Given the description of an element on the screen output the (x, y) to click on. 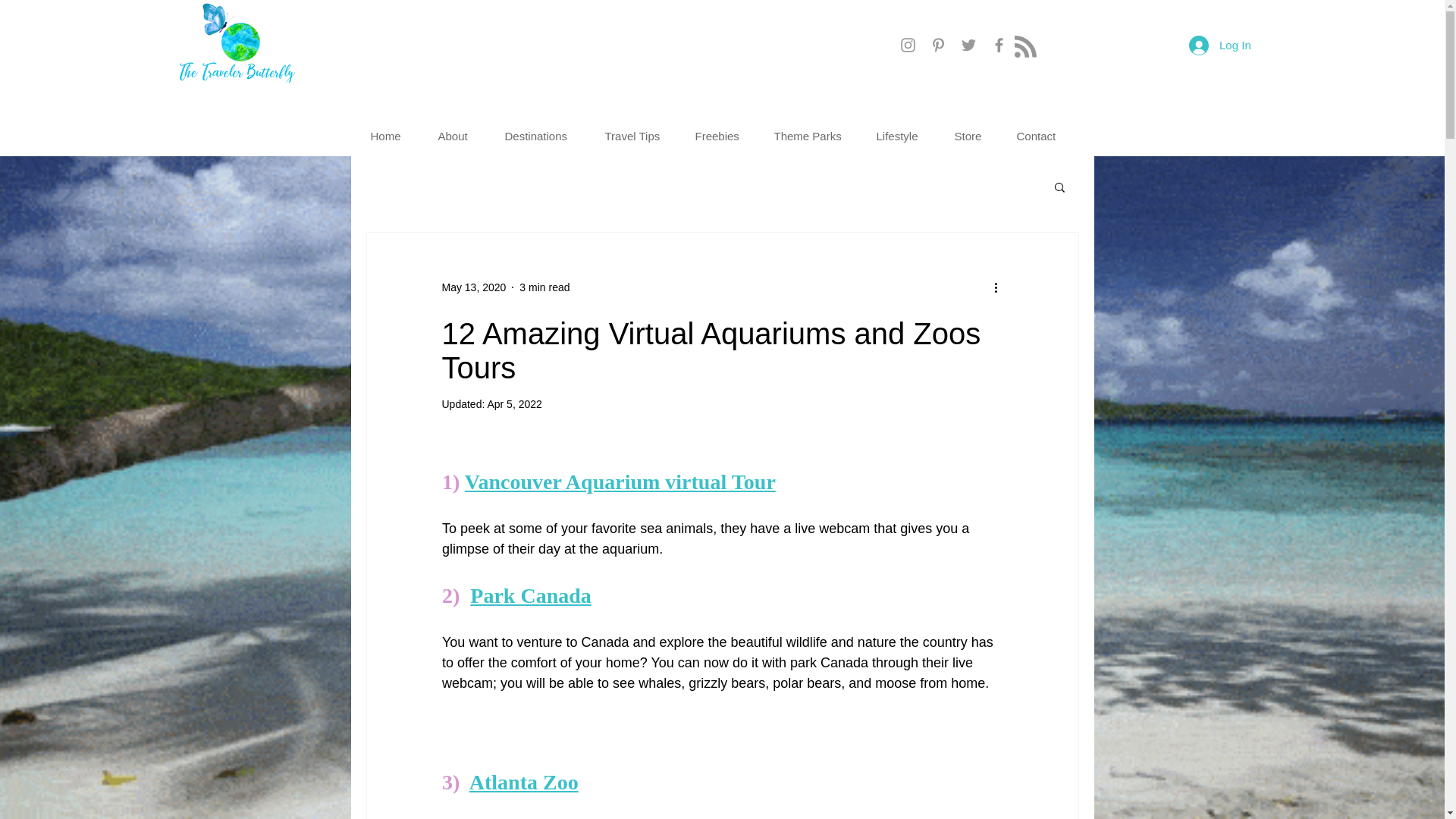
the traveler butterfly  (237, 41)
Store (974, 135)
Home (392, 135)
3 min read (544, 286)
Travel Tips (637, 135)
May 13, 2020 (473, 286)
Theme Parks (813, 135)
Contact (1043, 135)
Freebies (723, 135)
Log In (1219, 44)
Lifestyle (903, 135)
About (459, 135)
Destinations (542, 135)
Apr 5, 2022 (513, 404)
